Given the description of an element on the screen output the (x, y) to click on. 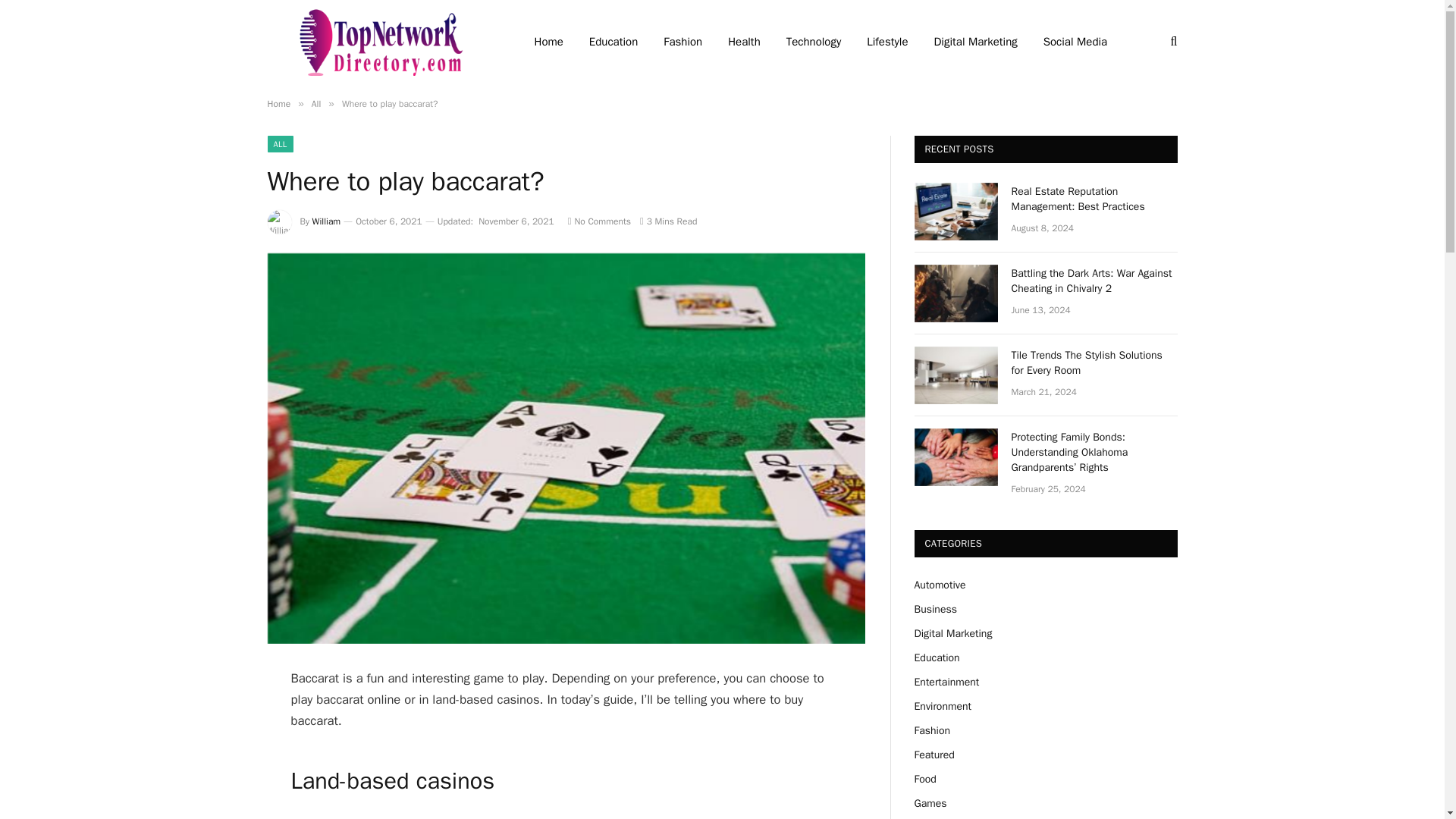
Real Estate Reputation Management: Best Practices (955, 211)
Education (613, 41)
William (326, 221)
Social Media (1074, 41)
Home (277, 103)
Topnetworkdirectory (380, 41)
Technology (813, 41)
Tile Trends The Stylish Solutions for Every Room  (1094, 363)
